Given the description of an element on the screen output the (x, y) to click on. 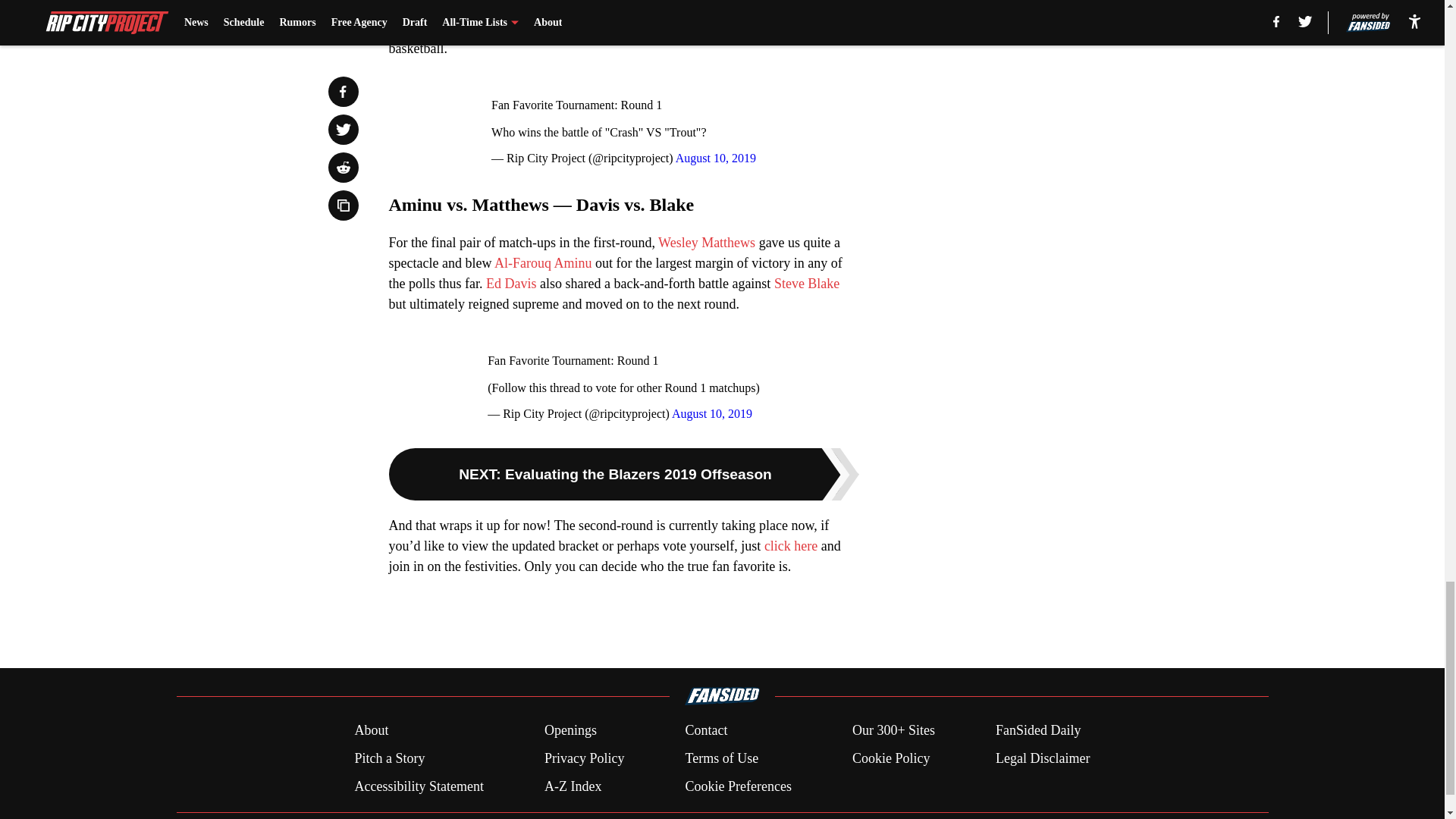
Wesley Matthews (706, 242)
NEXT: Evaluating the Blazers 2019 Offseason (623, 473)
Ed Davis (511, 283)
August 10, 2019 (711, 413)
Gerald Wallace (745, 7)
Al-Farouq Aminu (543, 263)
August 10, 2019 (715, 157)
Steve Blake (807, 283)
